Given the description of an element on the screen output the (x, y) to click on. 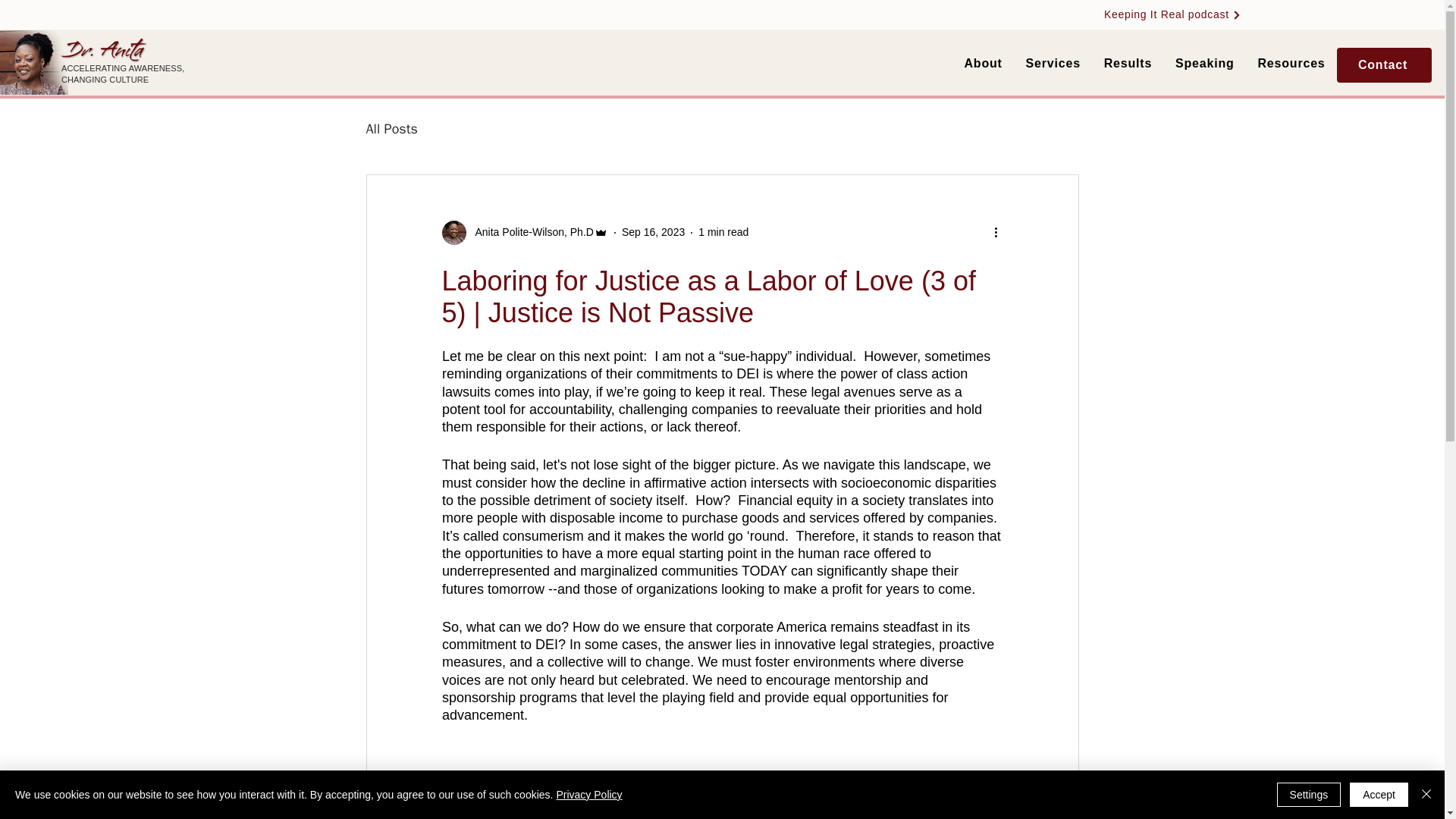
ACCELERATING AWARENESS, CHANGING CULTURE (122, 73)
Strengths-Based Development (874, 128)
Anita Polite-Wilson, Ph.D (528, 232)
Getting Started (493, 128)
About (982, 63)
Anita Polite-Wilson, Ph.D (524, 232)
Sep 16, 2023 (652, 232)
Contact (1383, 64)
Speaking (1205, 63)
Services (1052, 63)
